Given the description of an element on the screen output the (x, y) to click on. 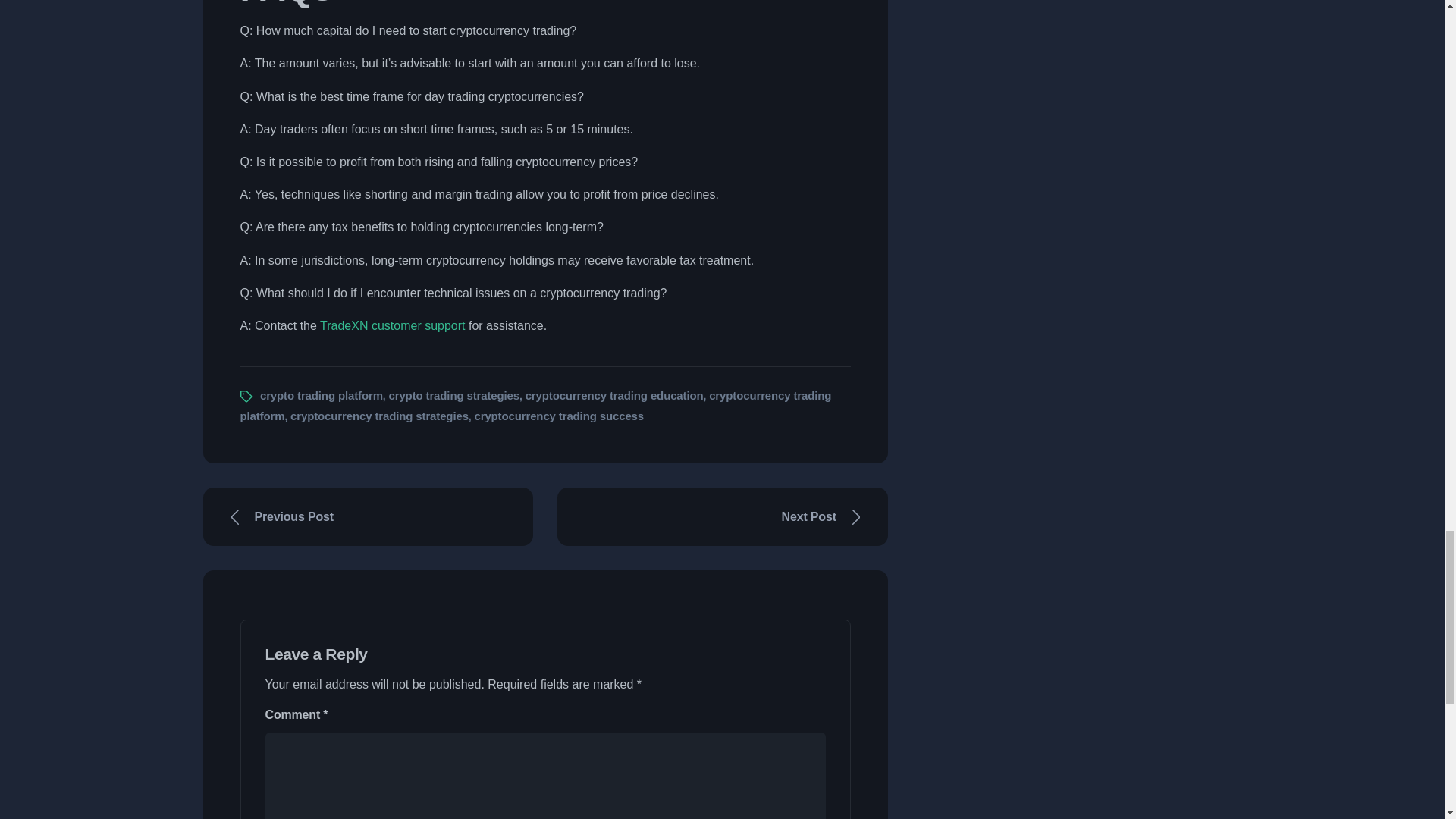
cryptocurrency trading education (614, 395)
Previous Post (368, 516)
crypto trading strategies (453, 395)
crypto trading platform (321, 395)
cryptocurrency trading success (558, 415)
Next Post (722, 516)
TradeXN customer support (392, 325)
cryptocurrency trading strategies (378, 415)
cryptocurrency trading platform (535, 405)
